Given the description of an element on the screen output the (x, y) to click on. 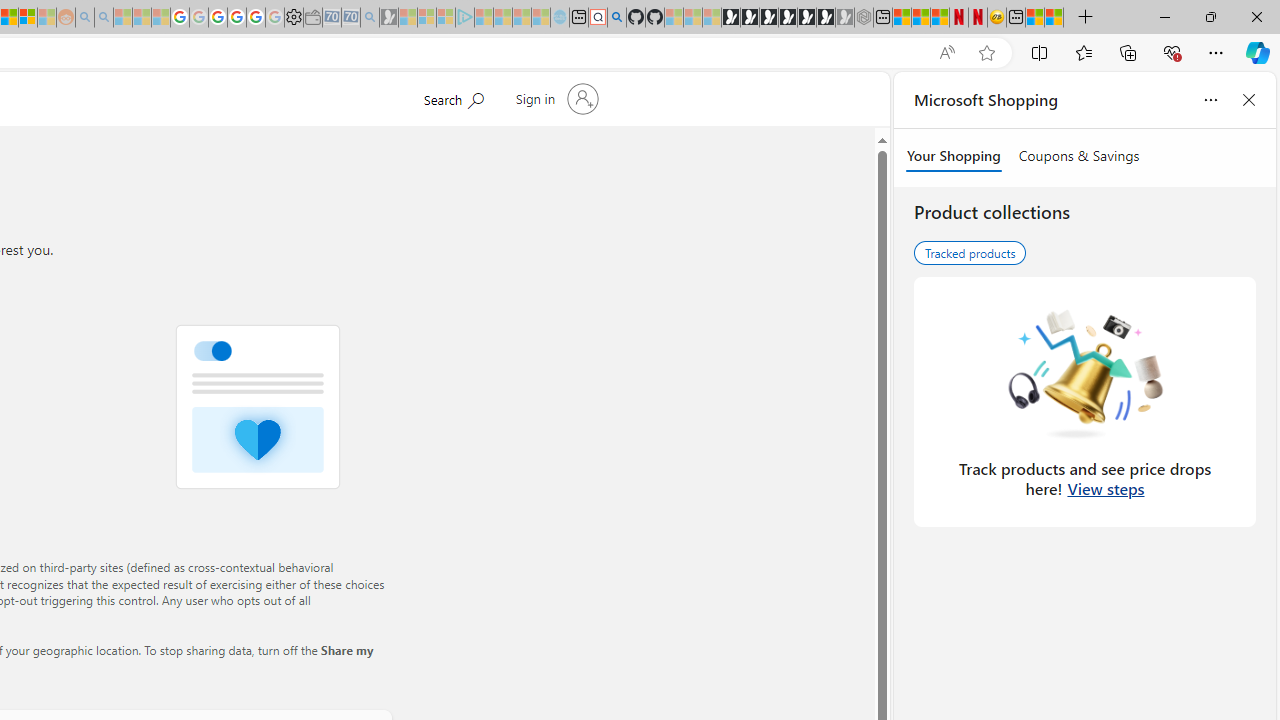
github - Search (616, 17)
Cheap Car Rentals - Save70.com - Sleeping (350, 17)
